Given the description of an element on the screen output the (x, y) to click on. 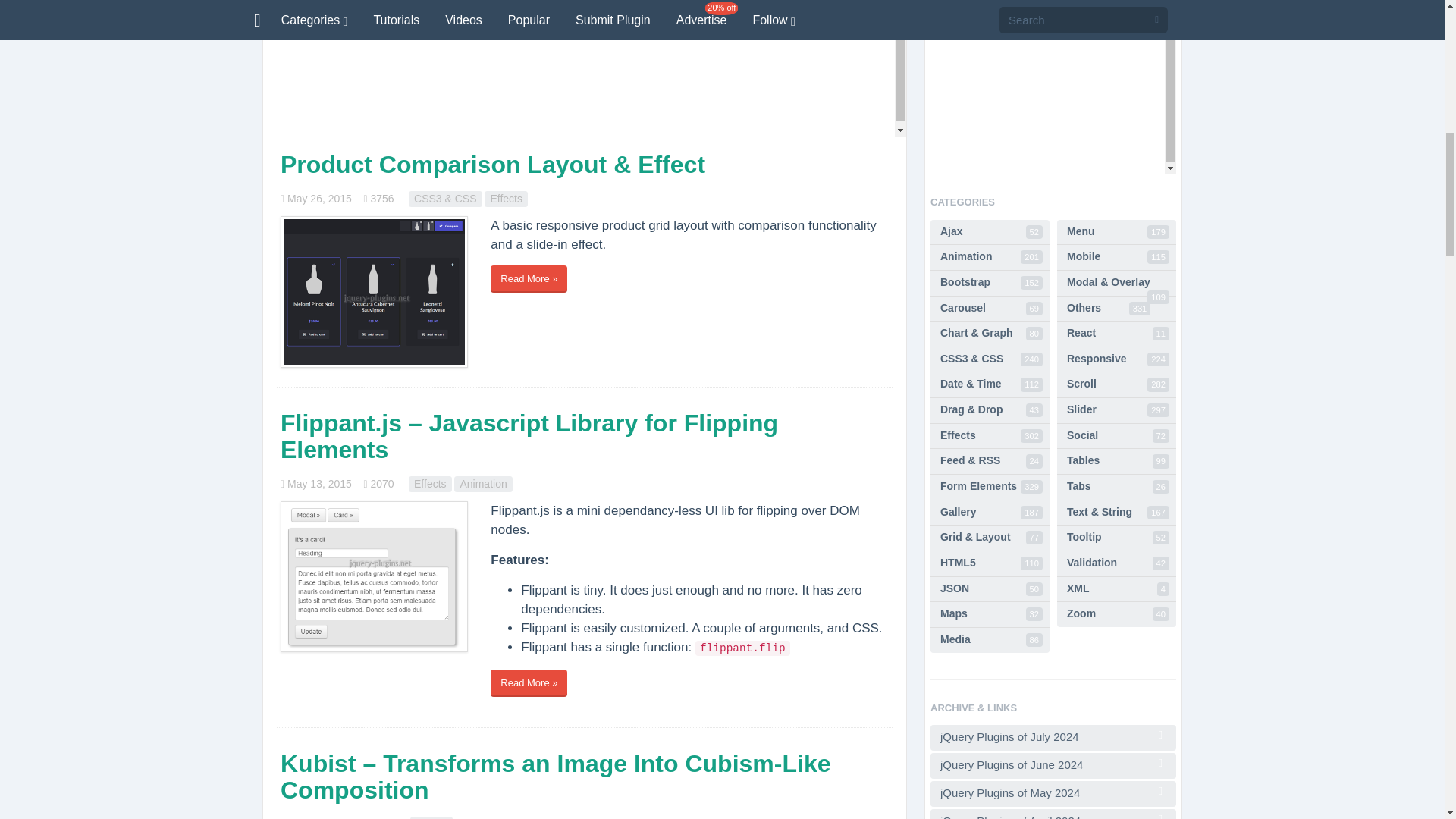
Advertisement (584, 68)
